Given the description of an element on the screen output the (x, y) to click on. 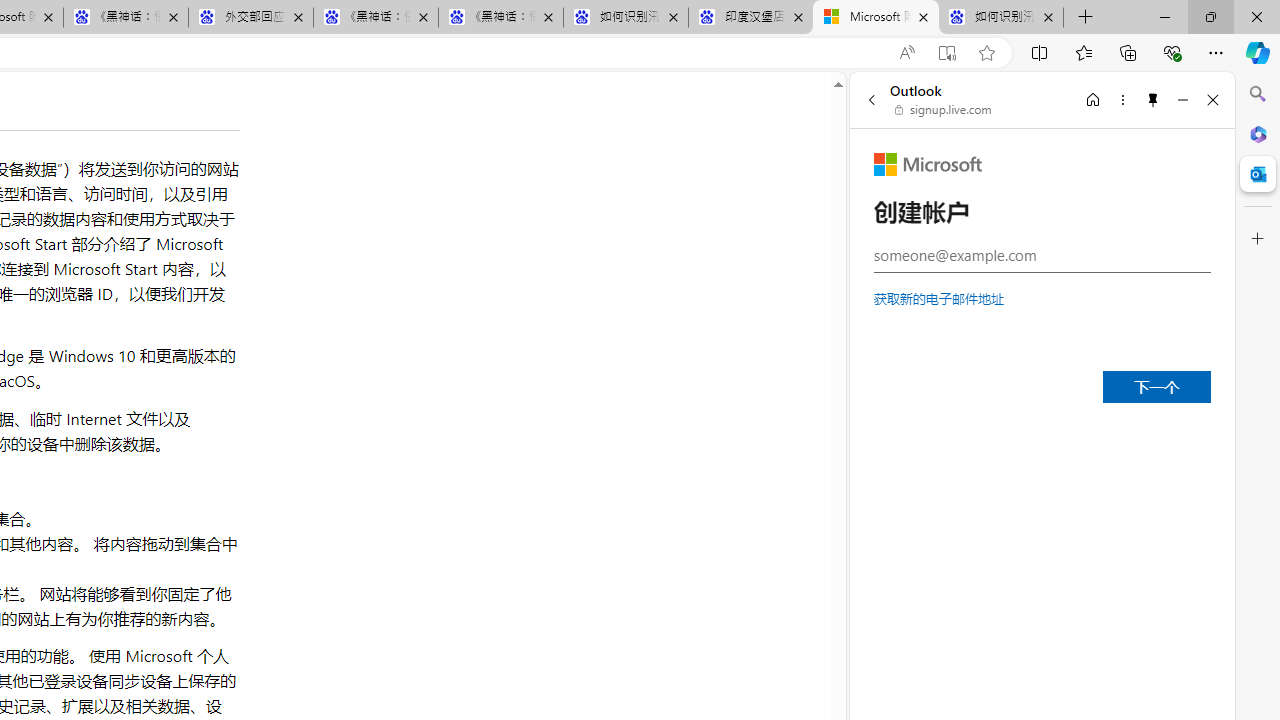
Restore (1210, 16)
Customize (1258, 239)
Minimize (1182, 99)
Collections (1128, 52)
Close tab (1048, 16)
Add this page to favorites (Ctrl+D) (986, 53)
Enter Immersive Reader (F9) (946, 53)
Back (871, 99)
New Tab (1085, 17)
